Given the description of an element on the screen output the (x, y) to click on. 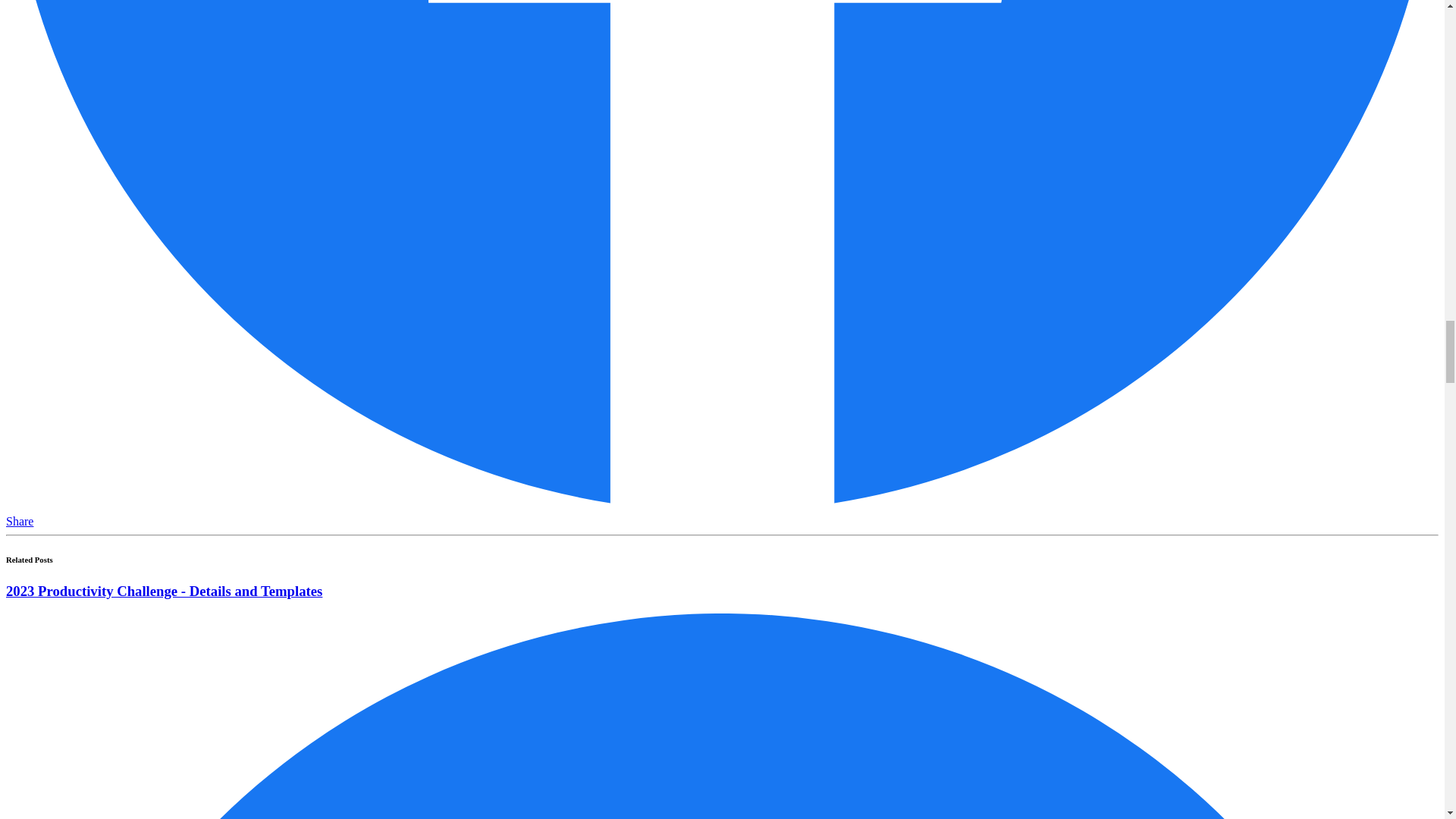
2023 Productivity Challenge - Details and Templates (163, 590)
